Given the description of an element on the screen output the (x, y) to click on. 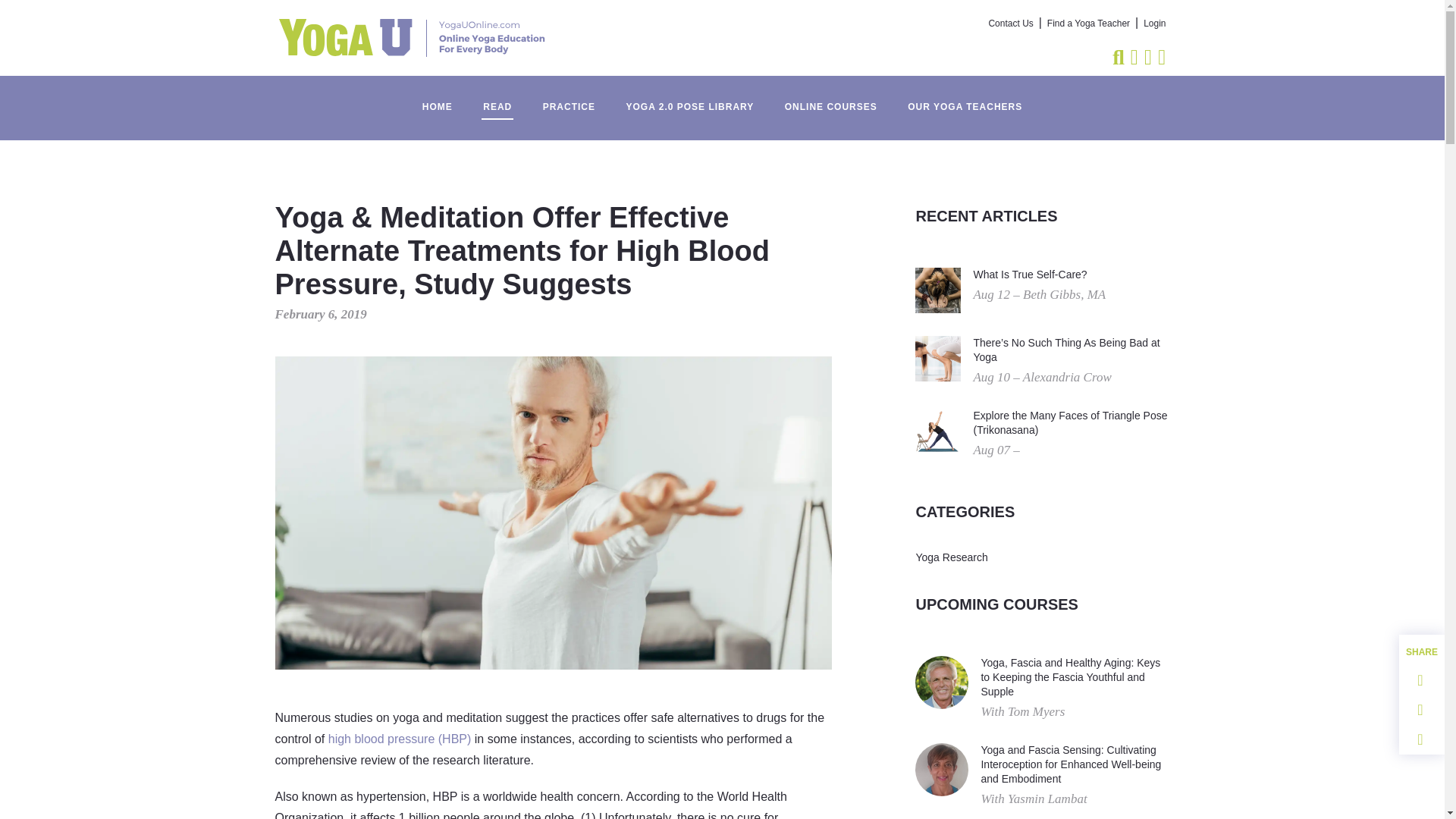
ONLINE COURSES (831, 99)
HOME (437, 99)
YOGA 2.0 POSE LIBRARY (689, 99)
PRACTICE (568, 99)
READ (496, 99)
Contact Us (1011, 23)
Find a Yoga Teacher (1088, 23)
OUR YOGA TEACHERS (964, 99)
